Given the description of an element on the screen output the (x, y) to click on. 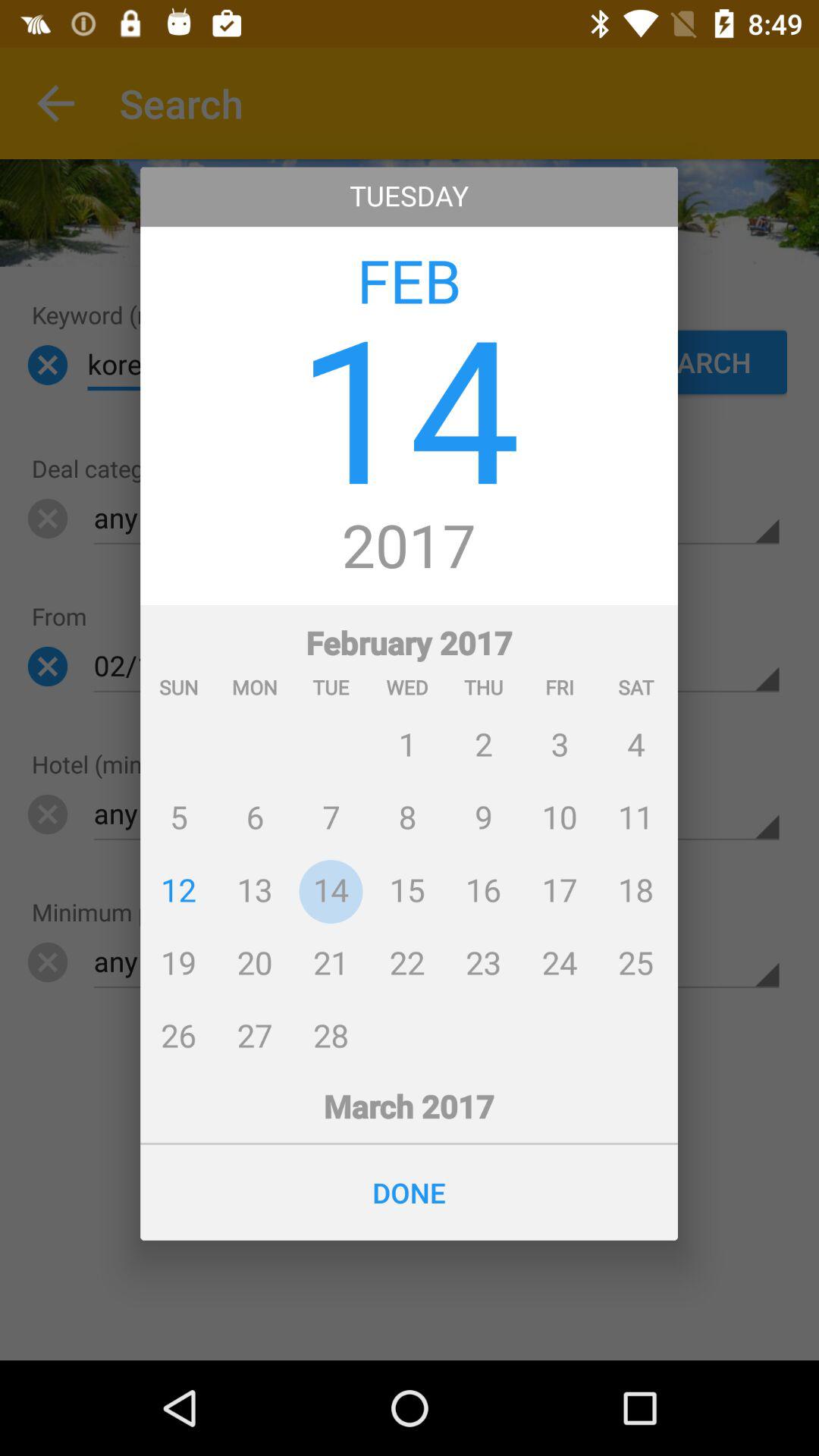
scroll until the done button (408, 1192)
